Given the description of an element on the screen output the (x, y) to click on. 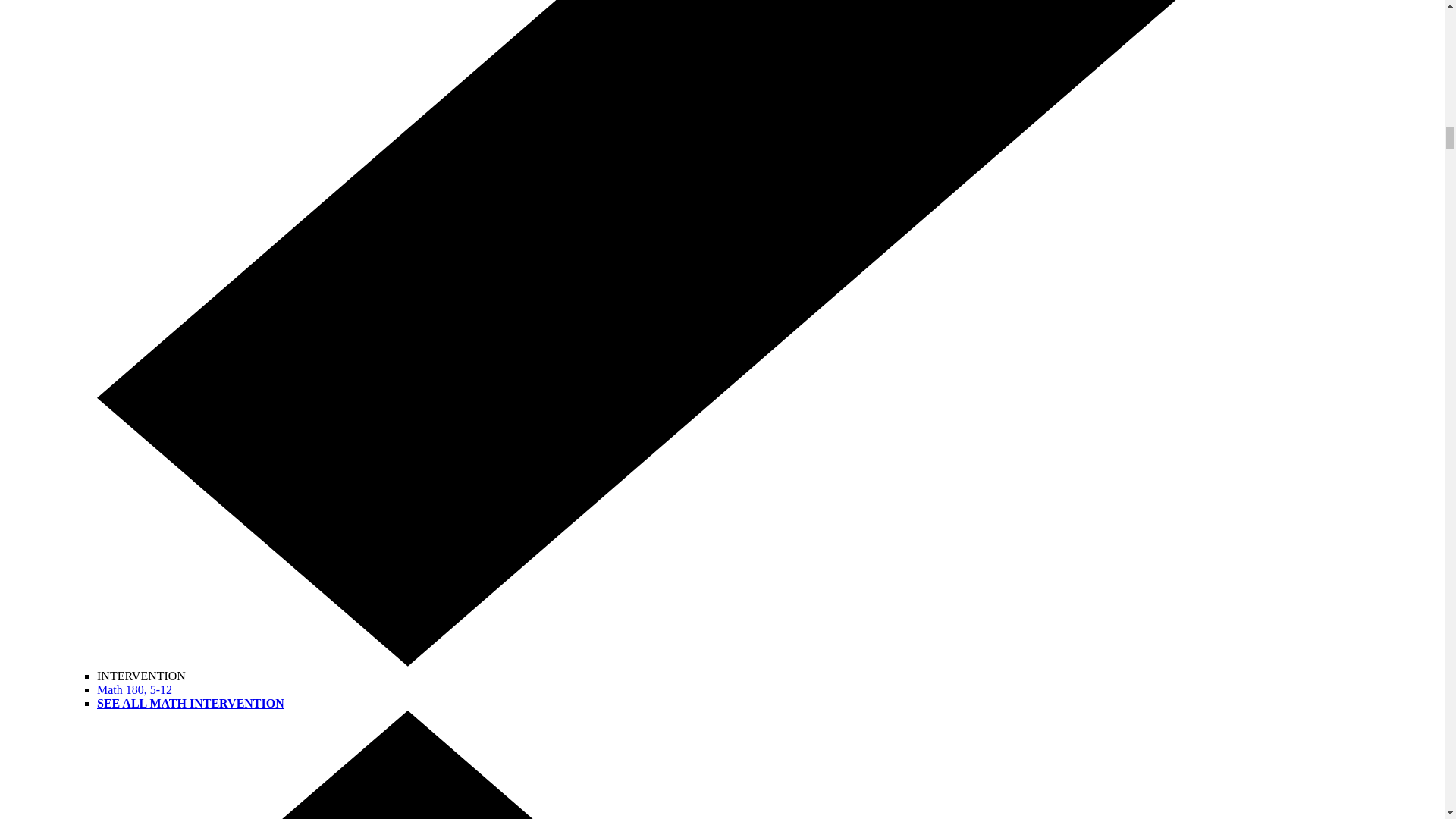
Math 180, 5-12 (134, 689)
